Given the description of an element on the screen output the (x, y) to click on. 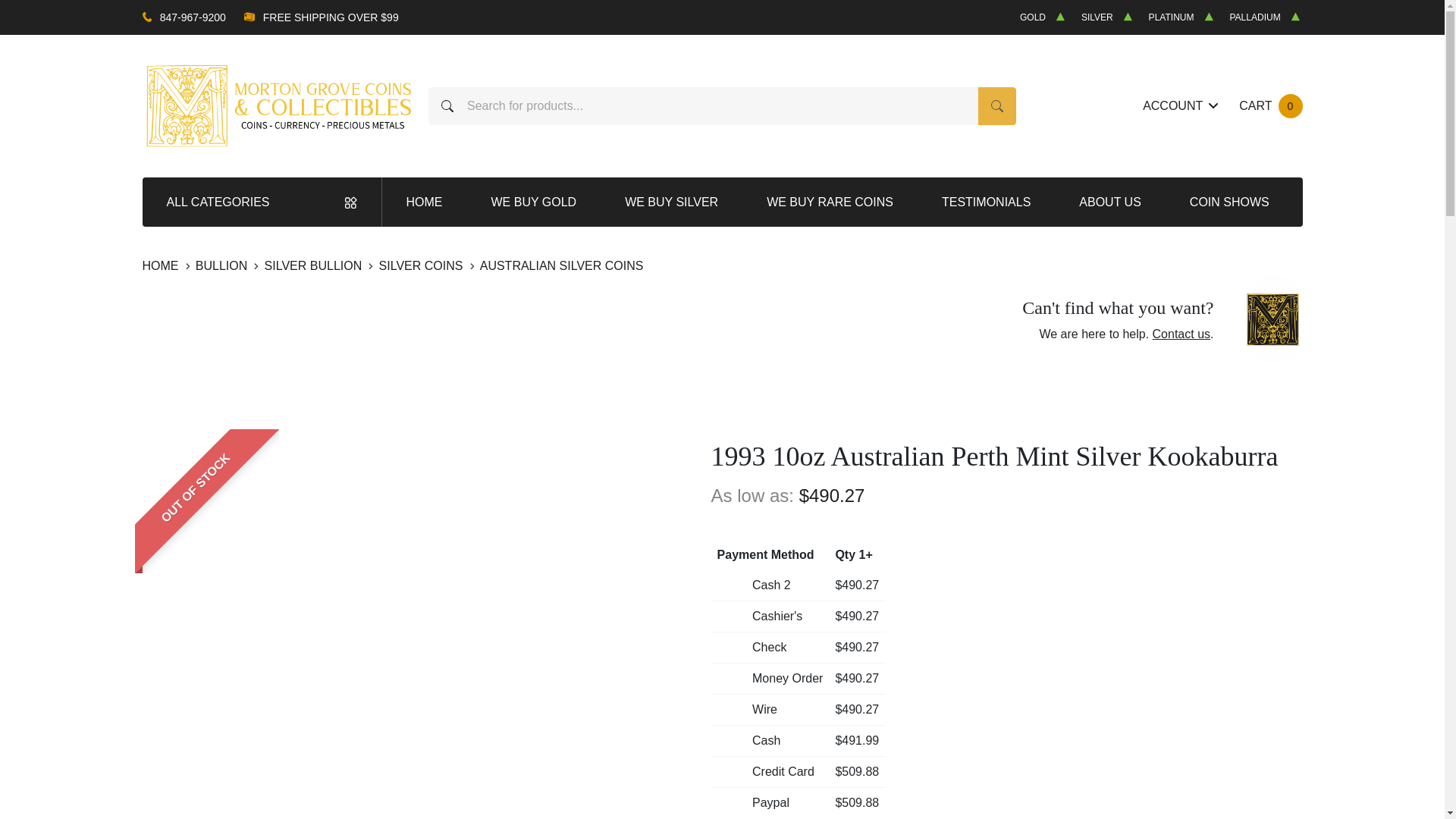
WE BUY RARE COINS (829, 201)
BULLION (222, 265)
SEARCH (997, 105)
TESTIMONIALS (985, 201)
WE BUY SILVER (670, 201)
AUSTRALIAN SILVER COINS (561, 265)
HOME (424, 201)
SILVER COINS (421, 265)
COIN SHOWS (1230, 201)
WE BUY GOLD (534, 201)
HOME (162, 265)
847-967-9200 (192, 16)
ALL CATEGORIES (1270, 105)
ABOUT US (261, 201)
